Given the description of an element on the screen output the (x, y) to click on. 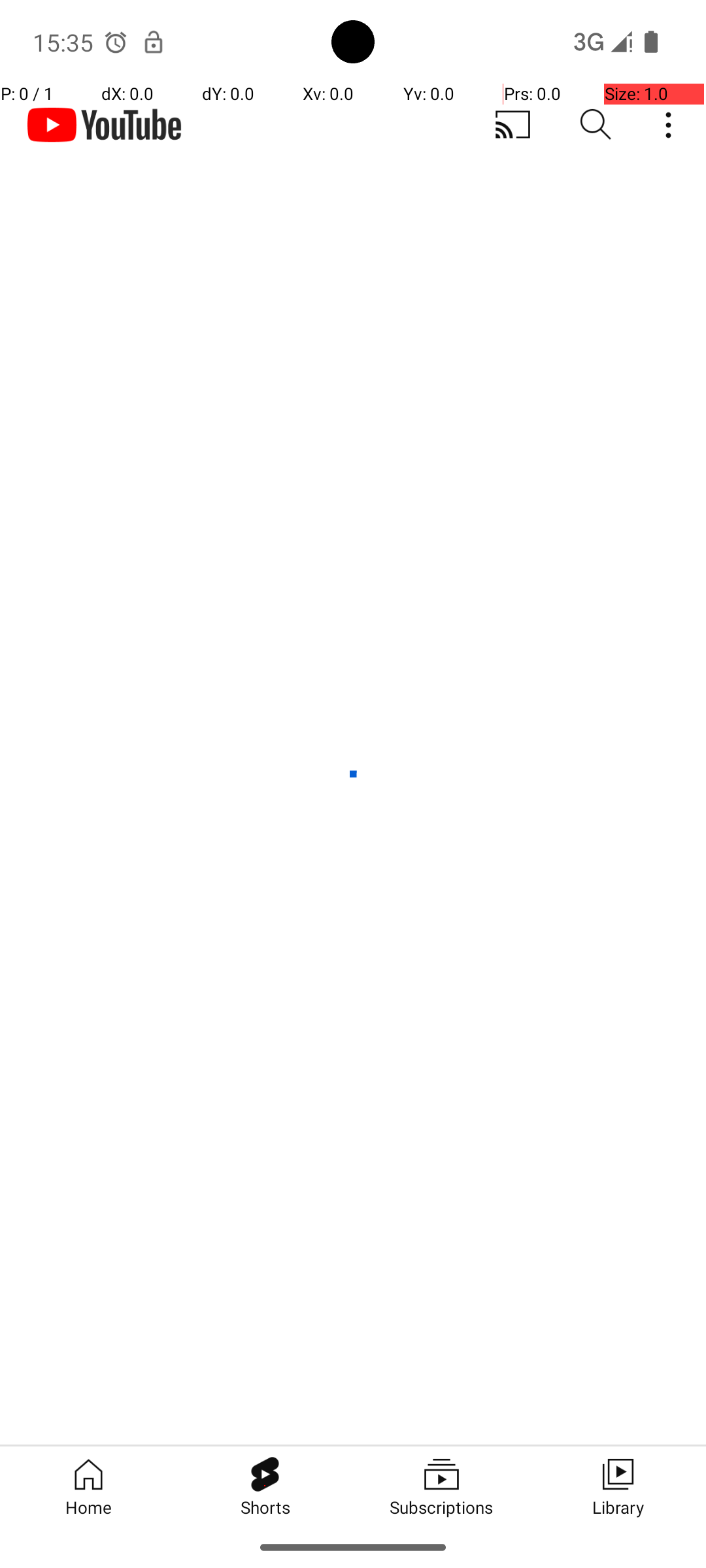
Cast. Disconnected Element type: android.view.View (512, 124)
